Given the description of an element on the screen output the (x, y) to click on. 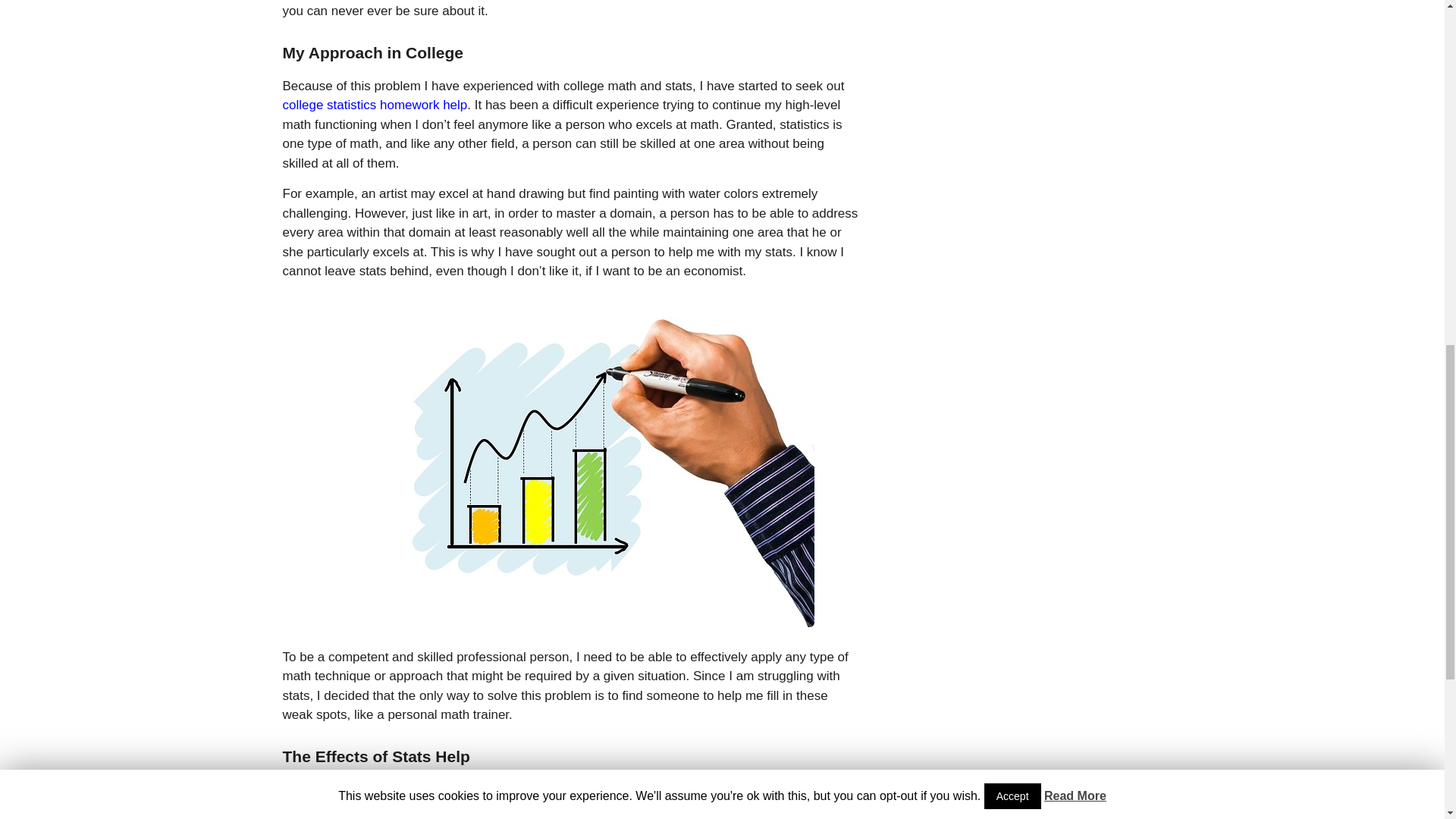
college statistics homework help (374, 104)
